Given the description of an element on the screen output the (x, y) to click on. 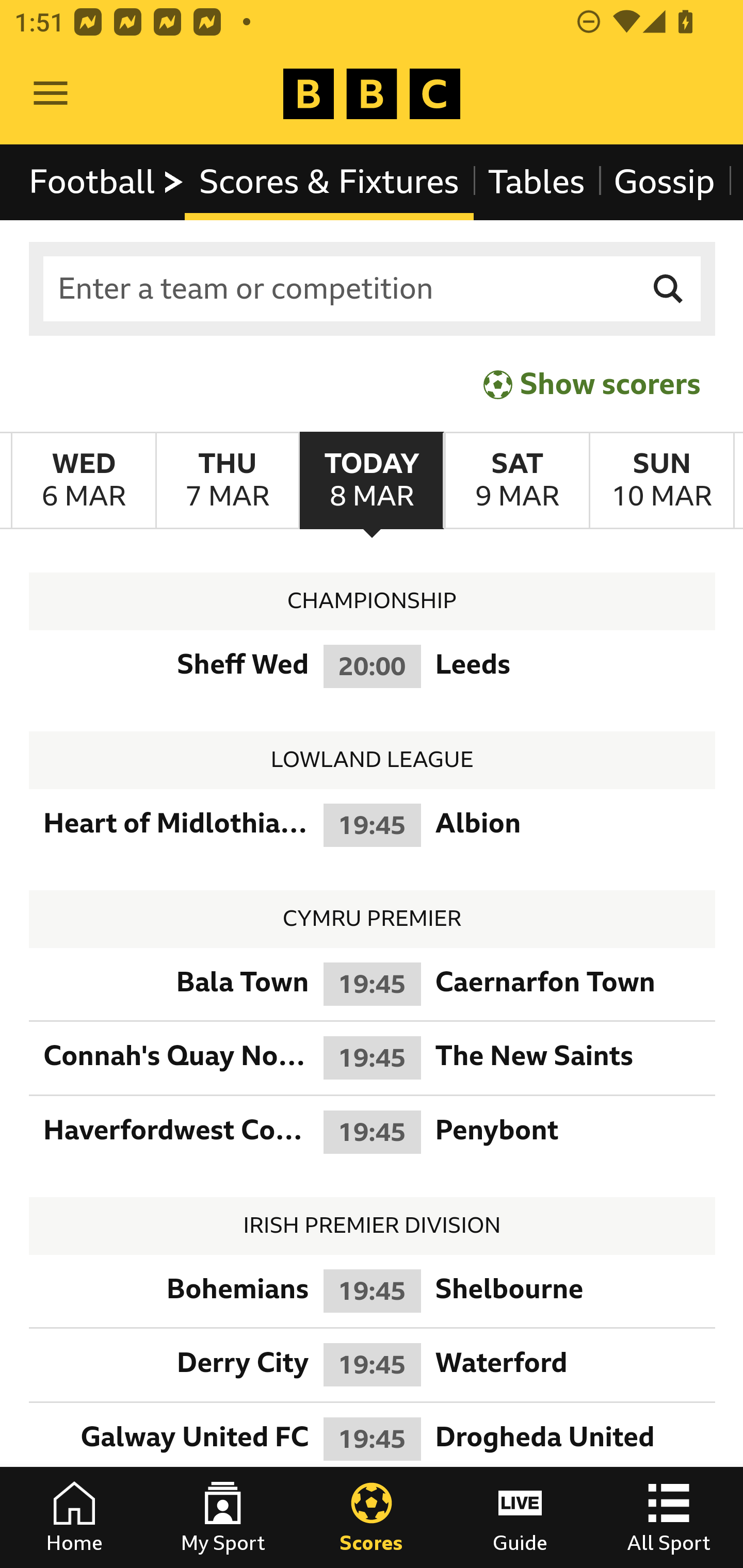
Open Menu (50, 93)
Football  (106, 181)
Scores & Fixtures (329, 181)
Tables (536, 181)
Gossip (664, 181)
Search (669, 289)
Show scorers (591, 383)
WednesdayMarch 6th Wednesday March 6th (83, 480)
ThursdayMarch 7th Thursday March 7th (227, 480)
SaturdayMarch 9th Saturday March 9th (516, 480)
SundayMarch 10th Sunday March 10th (661, 480)
Home (74, 1517)
My Sport (222, 1517)
Guide (519, 1517)
All Sport (668, 1517)
